Given the description of an element on the screen output the (x, y) to click on. 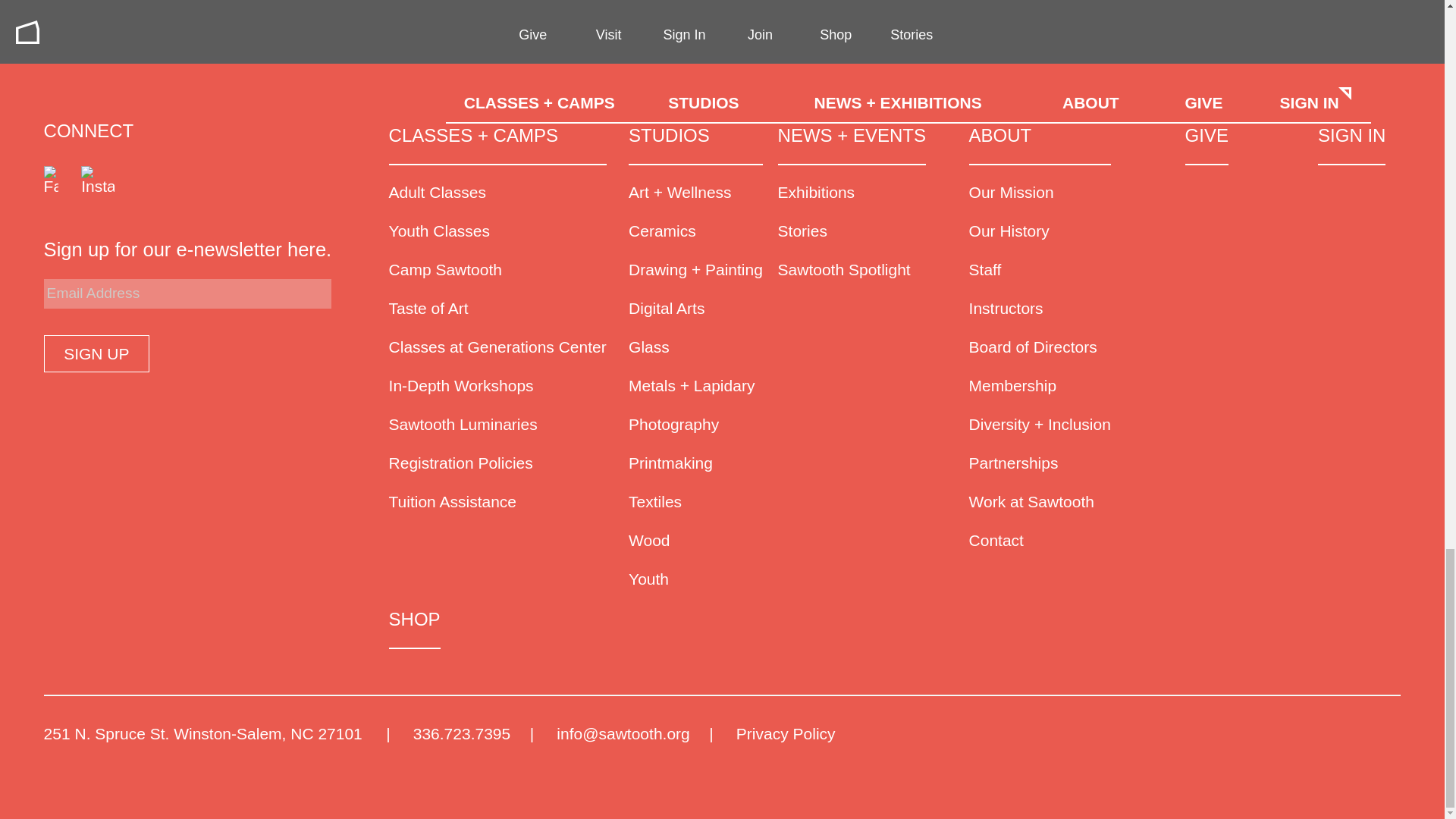
Sign Up (96, 353)
